Given the description of an element on the screen output the (x, y) to click on. 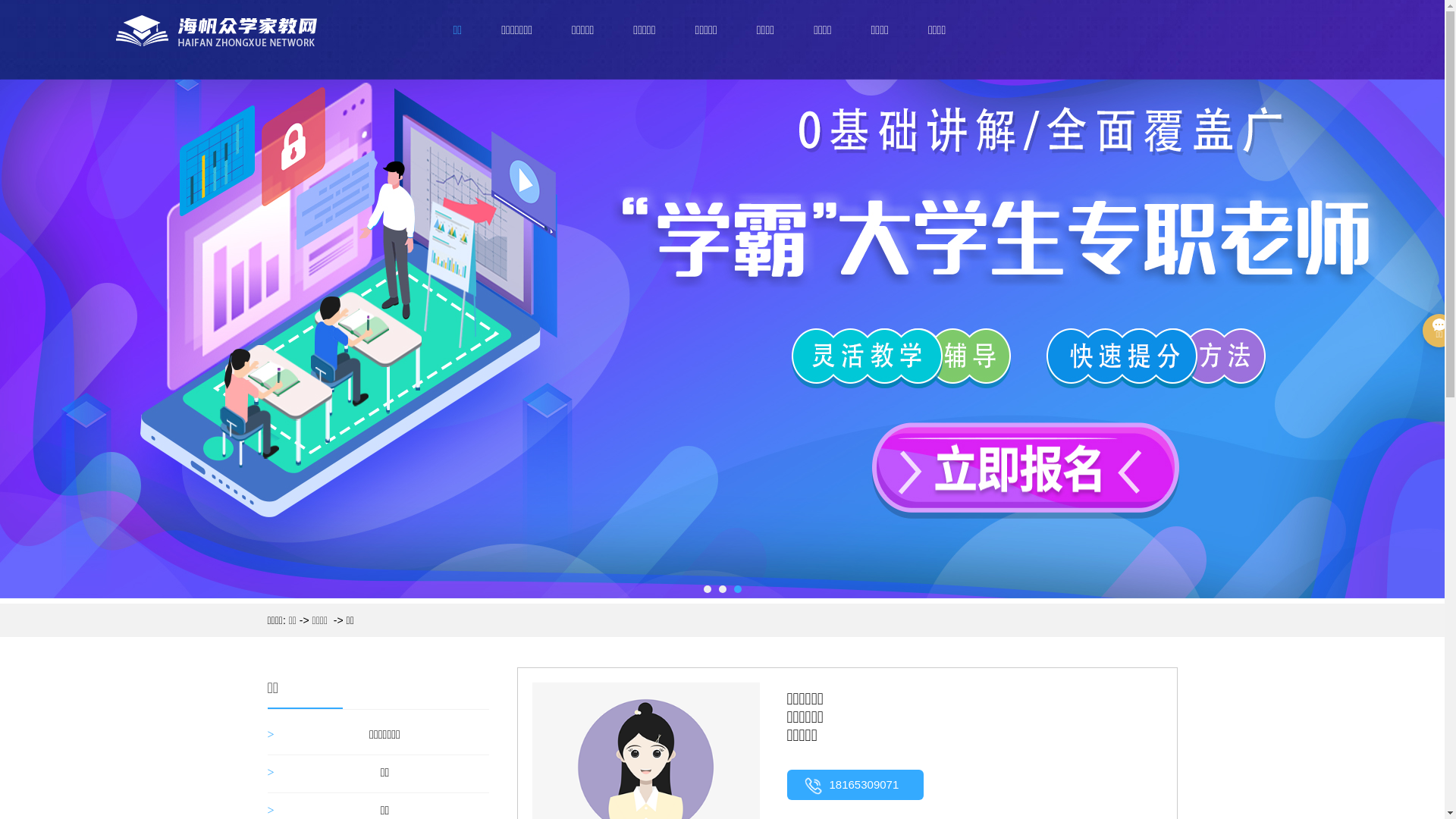
18165309071 Element type: text (855, 784)
